Given the description of an element on the screen output the (x, y) to click on. 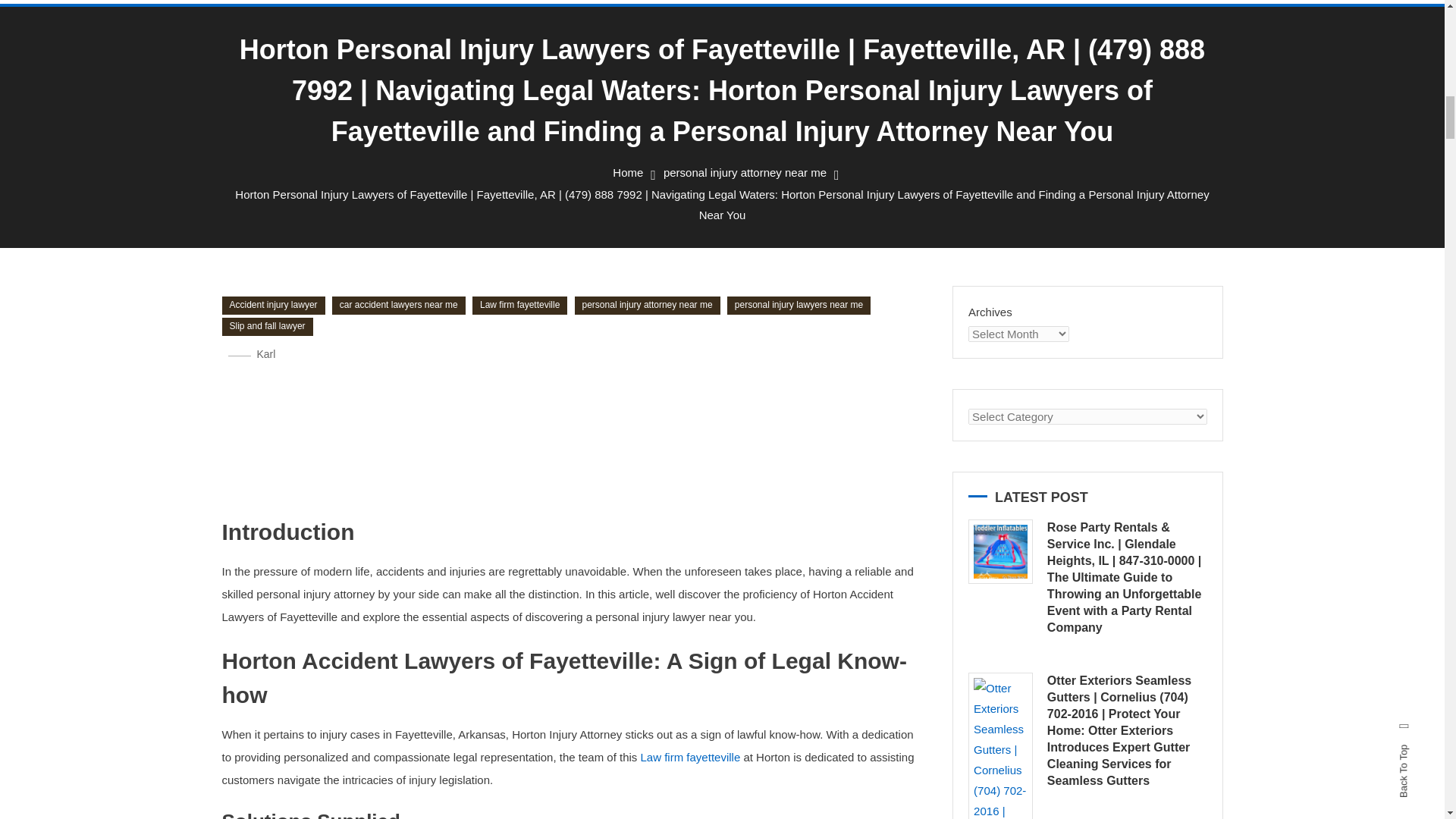
Law firm fayetteville (519, 305)
car accident lawyers near me (398, 305)
Slip and fall lawyer (267, 326)
personal injury attorney near me (647, 305)
Karl (265, 354)
personal injury lawyers near me (798, 305)
Accident injury lawyer (272, 305)
Law firm fayetteville (690, 757)
Home (627, 172)
personal injury attorney near me (745, 172)
